Given the description of an element on the screen output the (x, y) to click on. 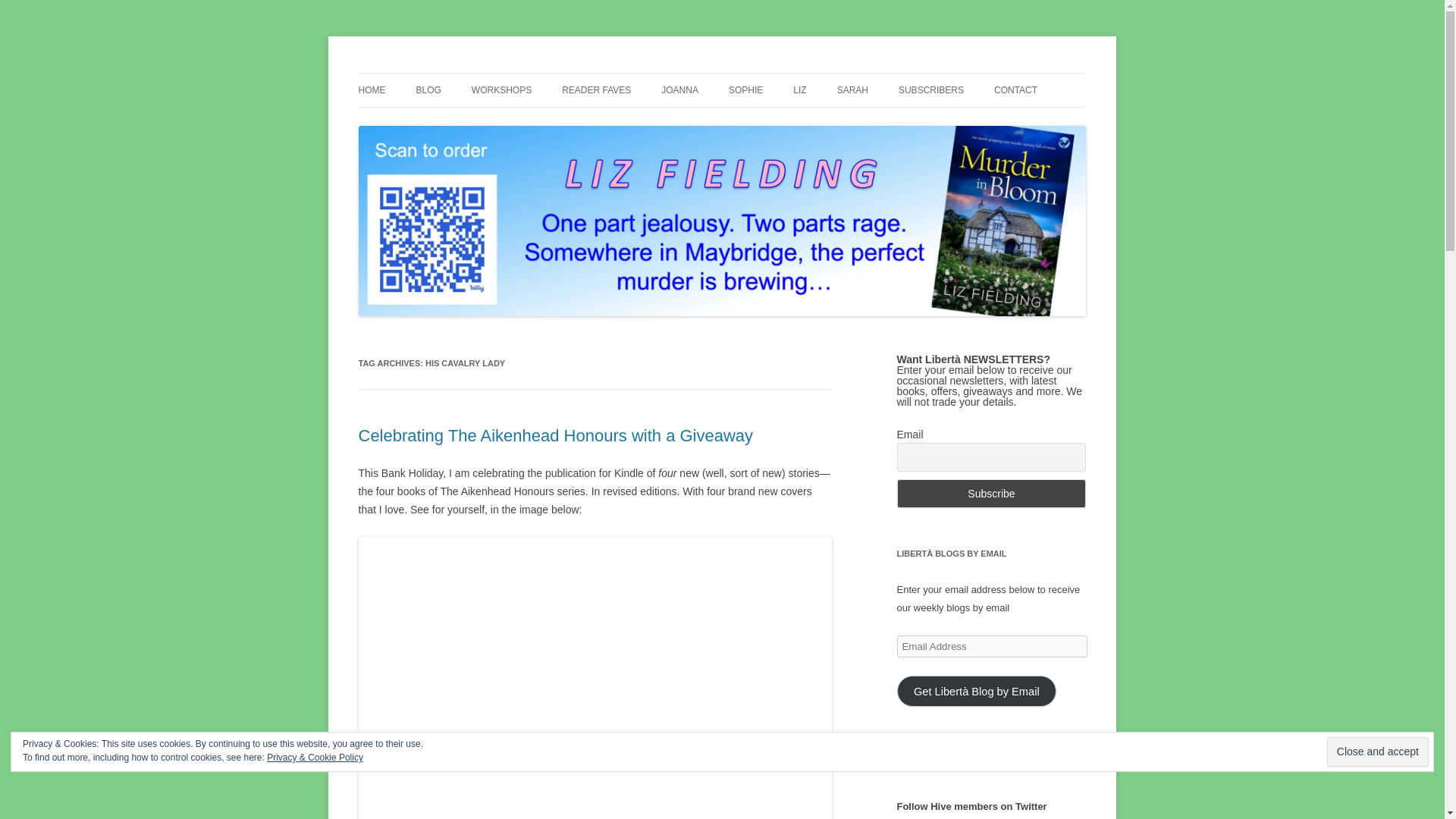
Liberta Books (423, 72)
JOANNA (679, 90)
READER FAVES (596, 90)
WORKSHOPS (501, 90)
SOPHIE (745, 90)
CONTACT (1015, 90)
SARAH (852, 90)
SUBSCRIBERS (930, 90)
Celebrating The Aikenhead Honours with a Giveaway (555, 435)
